Given the description of an element on the screen output the (x, y) to click on. 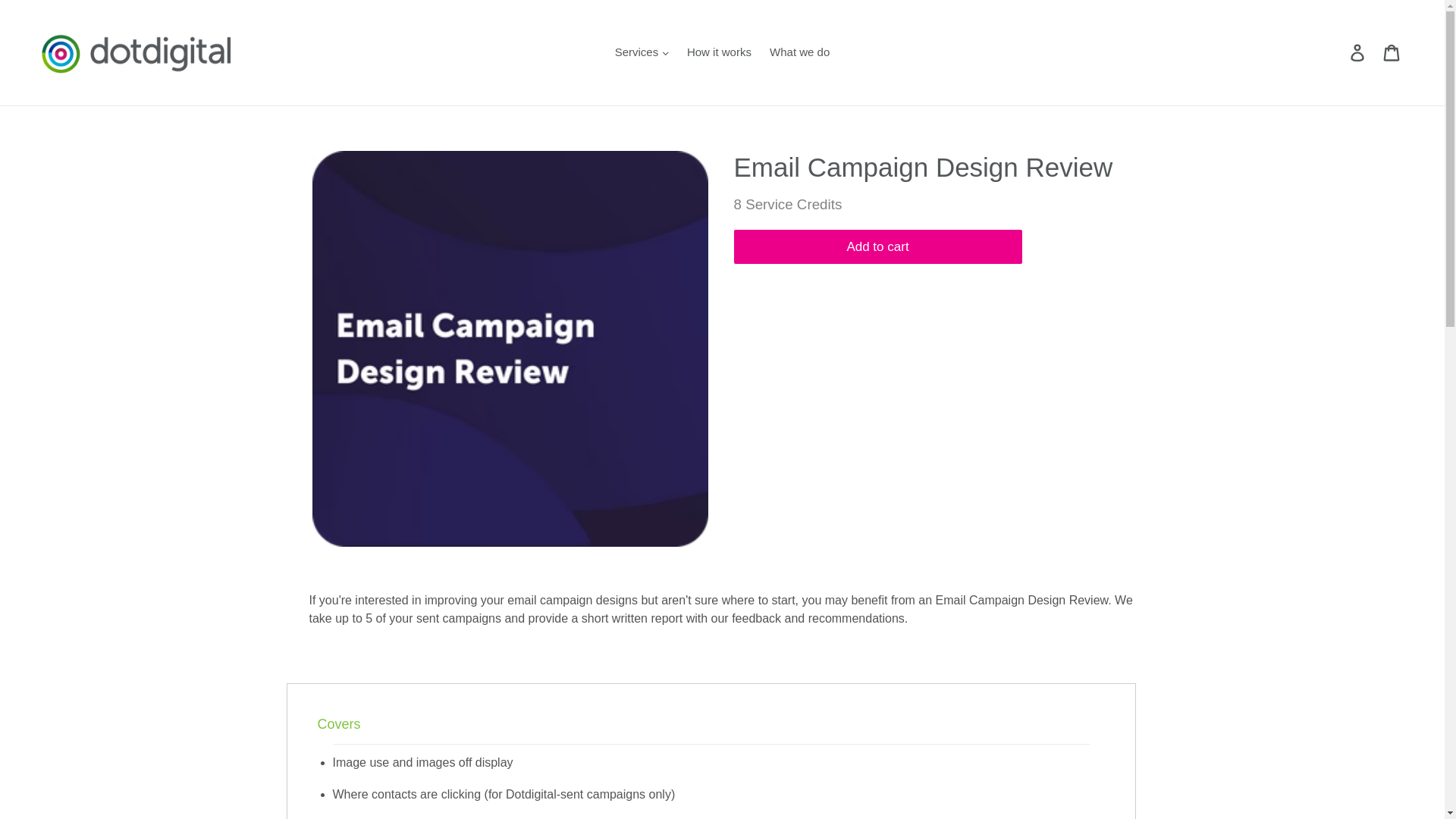
How it works (718, 52)
Cart (1392, 52)
Add to cart (877, 247)
What we do (799, 52)
Log in (1357, 52)
